Given the description of an element on the screen output the (x, y) to click on. 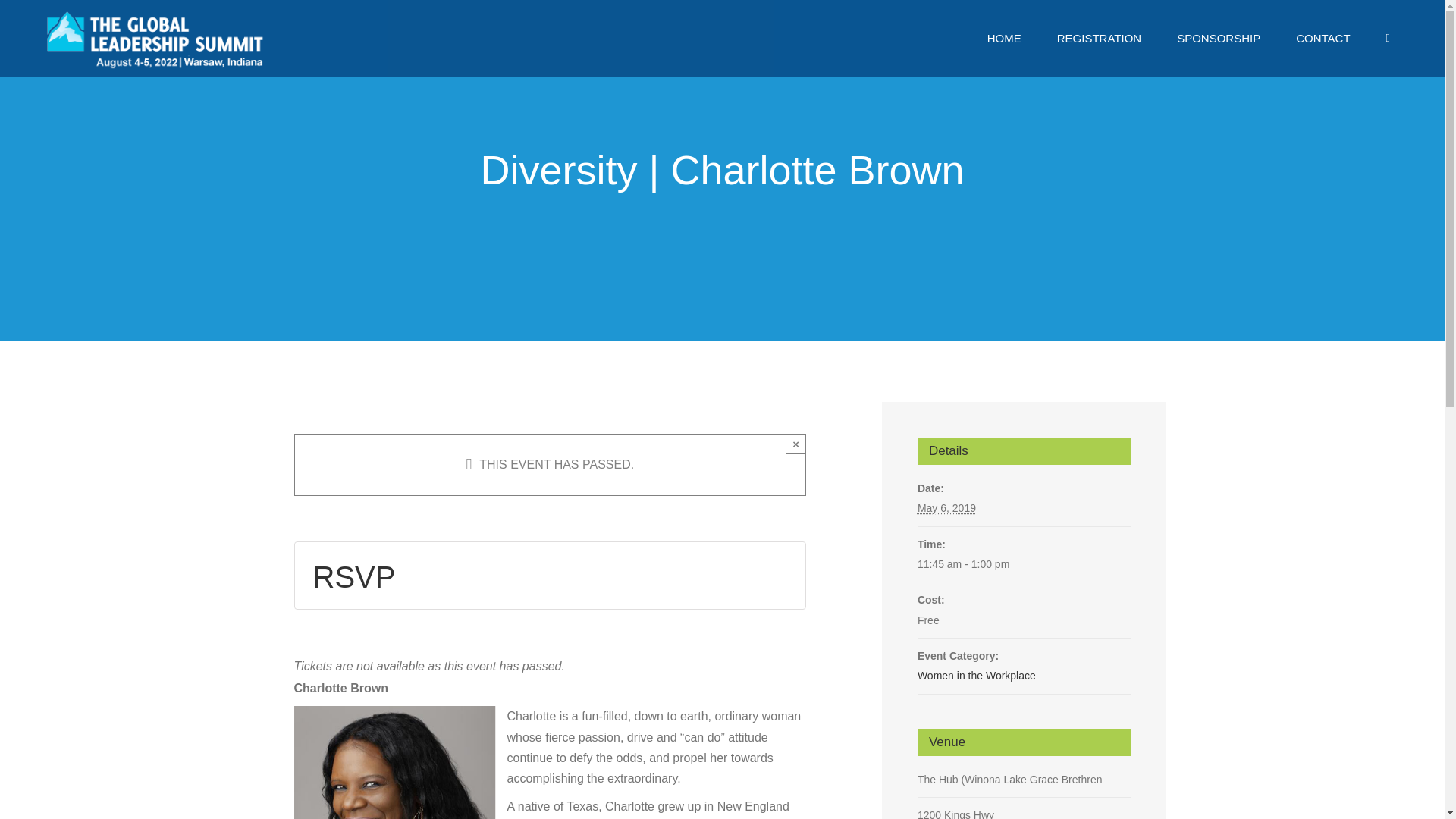
HOME (1004, 38)
CONTACT (1323, 38)
Women in the Workplace (976, 675)
REGISTRATION (1098, 38)
SPONSORSHIP (1218, 38)
2019-05-06 (946, 508)
2019-05-06 (1024, 564)
